Given the description of an element on the screen output the (x, y) to click on. 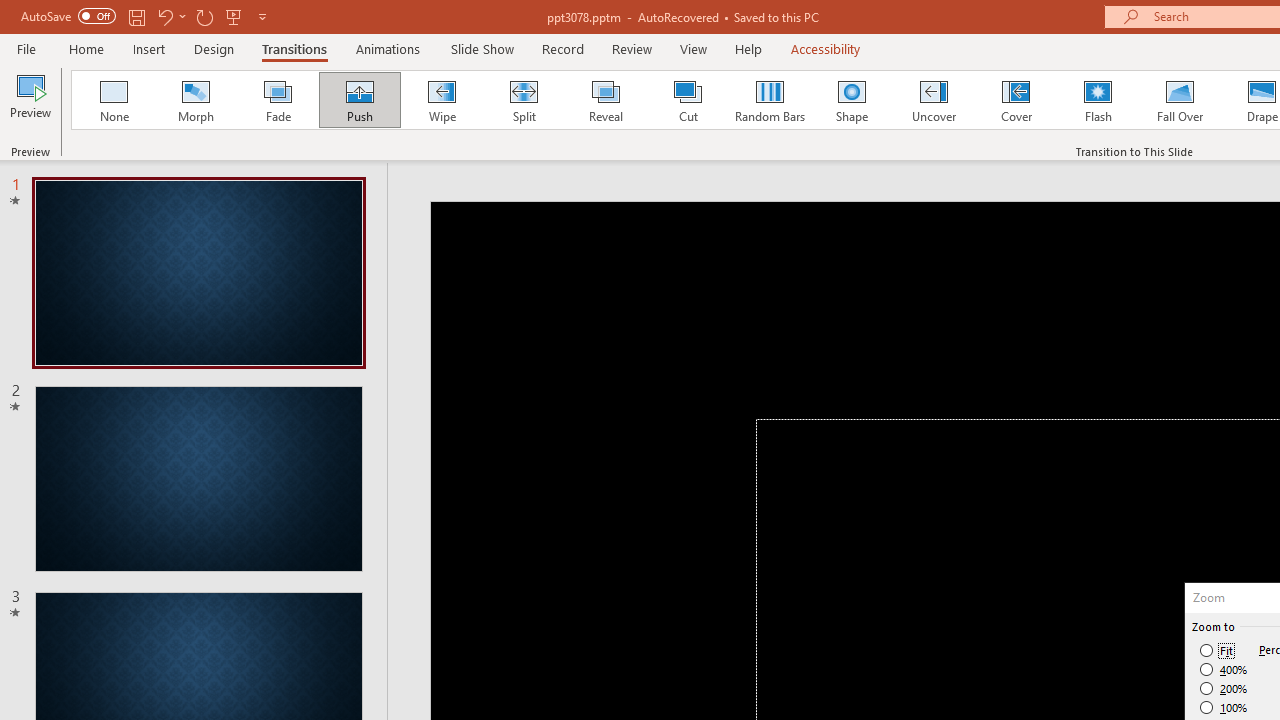
Wipe (441, 100)
400% (1224, 669)
Fit (1217, 650)
Shape (852, 100)
Uncover (934, 100)
Fade (277, 100)
